Given the description of an element on the screen output the (x, y) to click on. 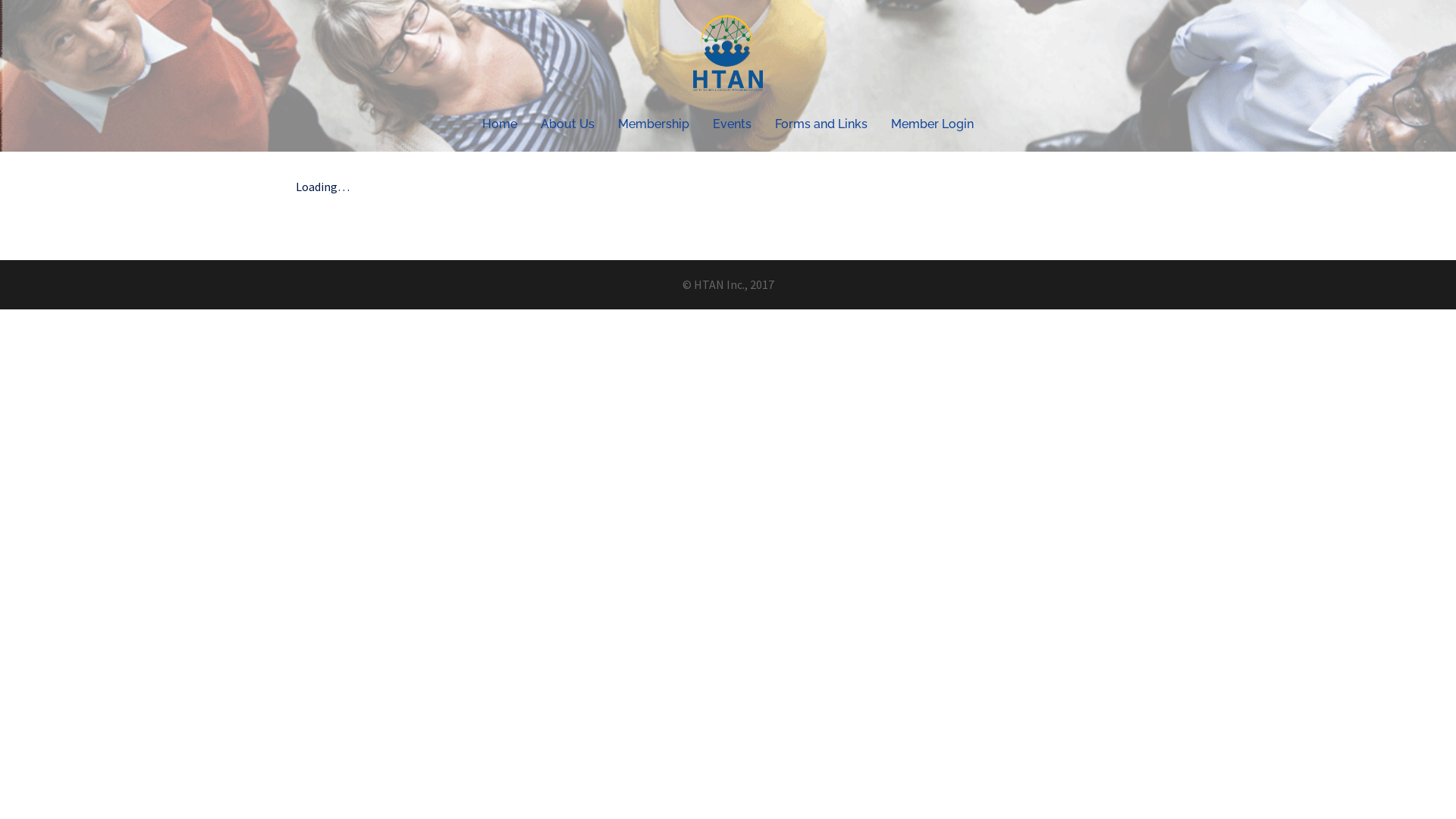
Home Element type: text (499, 123)
HTAN Element type: hover (727, 56)
About Us Element type: text (567, 123)
Membership Element type: text (653, 123)
Forms and Links Element type: text (821, 123)
Events Element type: text (731, 123)
Member Login Element type: text (932, 123)
